Given the description of an element on the screen output the (x, y) to click on. 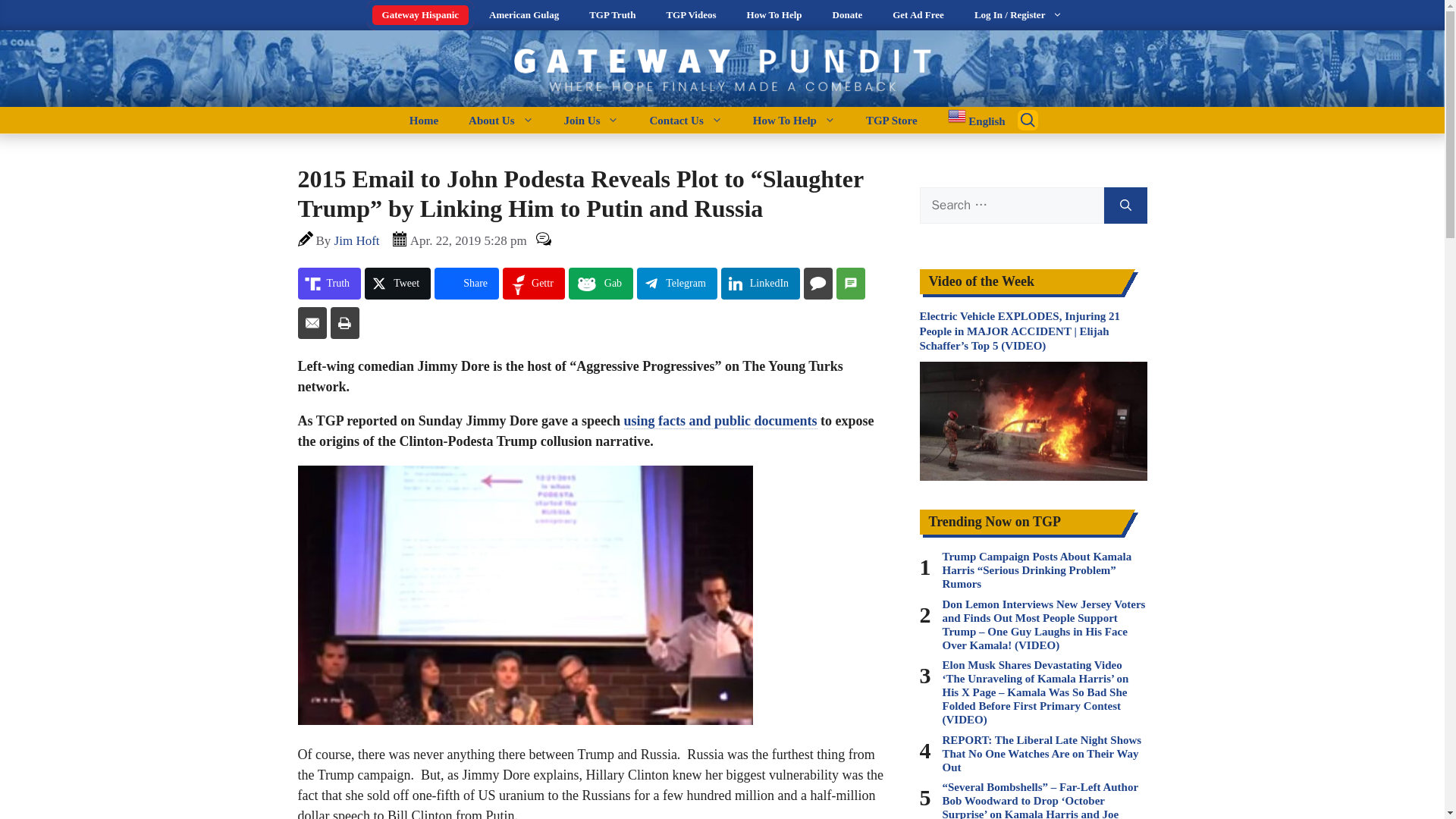
How To Help (774, 15)
Contact Us (684, 120)
View all posts by Jim Hoft (357, 240)
TGP Truth (611, 15)
TGP Store (891, 120)
Share on Share (466, 283)
Share on LinkedIn (759, 283)
Share on Tweet (397, 283)
How To Help (794, 120)
